Given the description of an element on the screen output the (x, y) to click on. 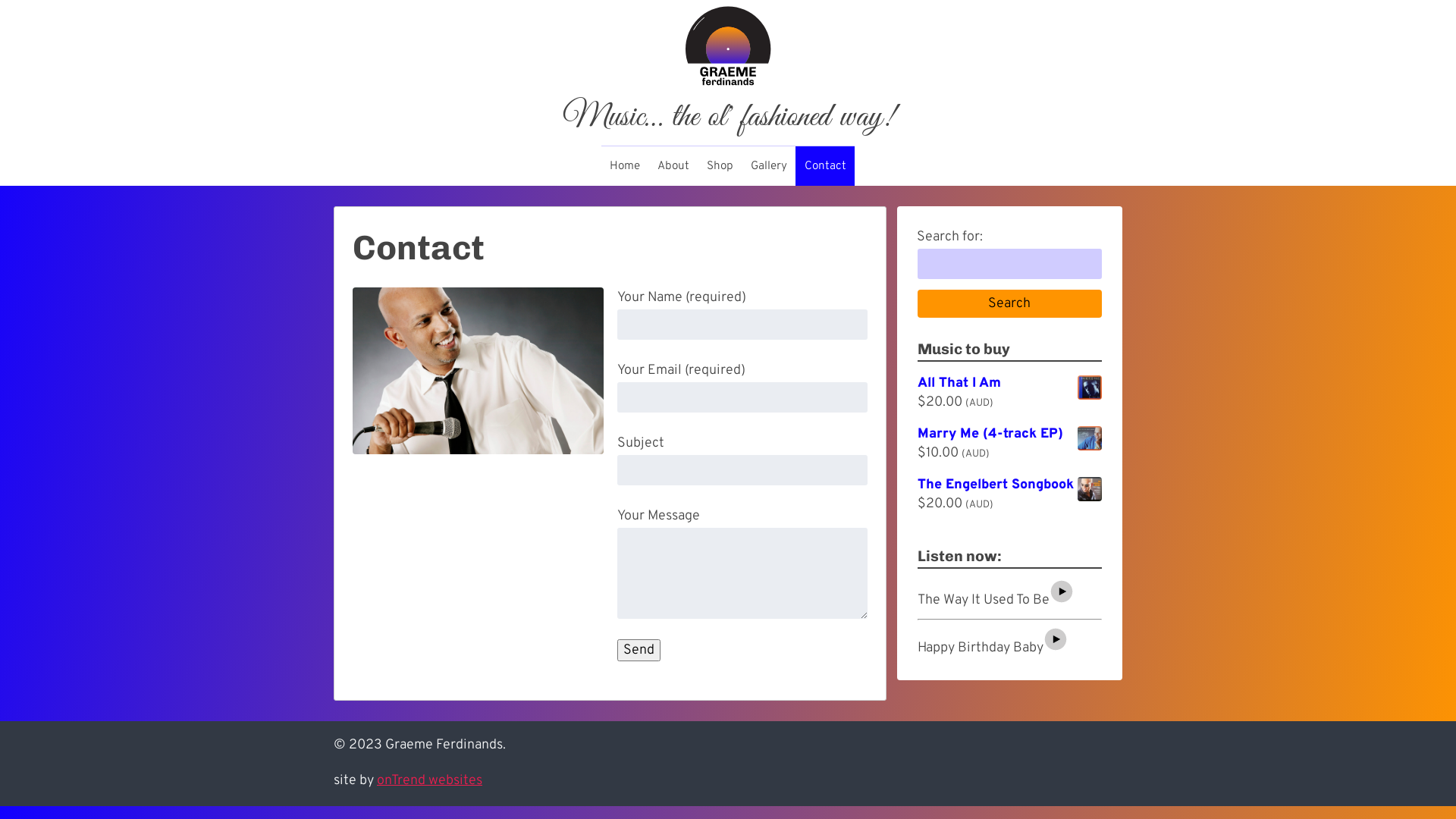
The Engelbert Songbook Element type: text (1009, 484)
Contact Element type: text (824, 165)
Shop Element type: text (720, 165)
Search Element type: text (1009, 303)
All That I Am Element type: text (1009, 383)
About Element type: text (673, 165)
Send Element type: text (638, 649)
onTrend websites Element type: text (429, 780)
Home Element type: text (625, 165)
Marry Me (4-track EP) Element type: text (1009, 434)
Gallery Element type: text (768, 165)
